Given the description of an element on the screen output the (x, y) to click on. 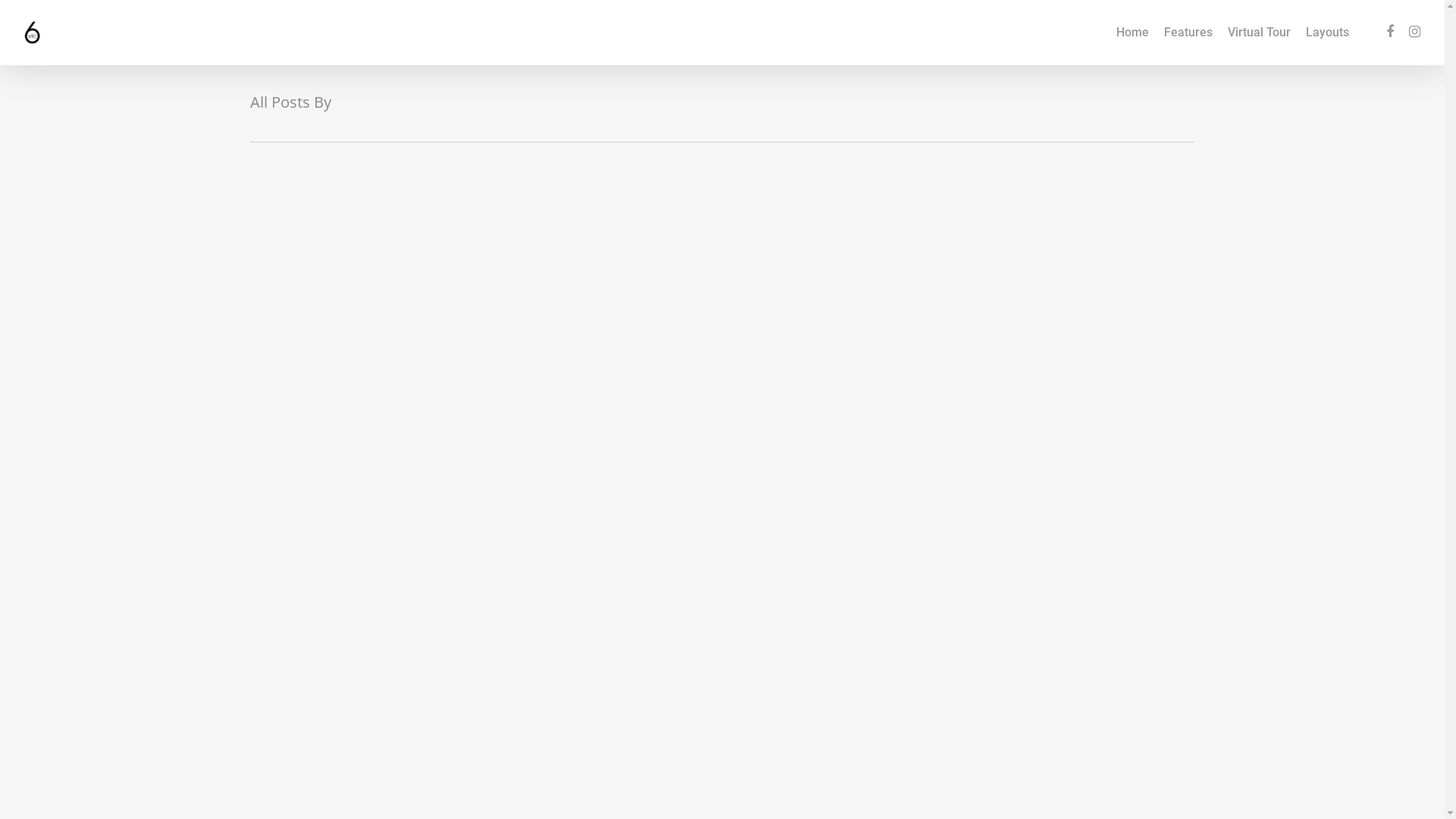
Layouts Element type: text (1327, 32)
Features Element type: text (1188, 32)
Virtual Tour Element type: text (1259, 32)
Home Element type: text (1132, 32)
